Given the description of an element on the screen output the (x, y) to click on. 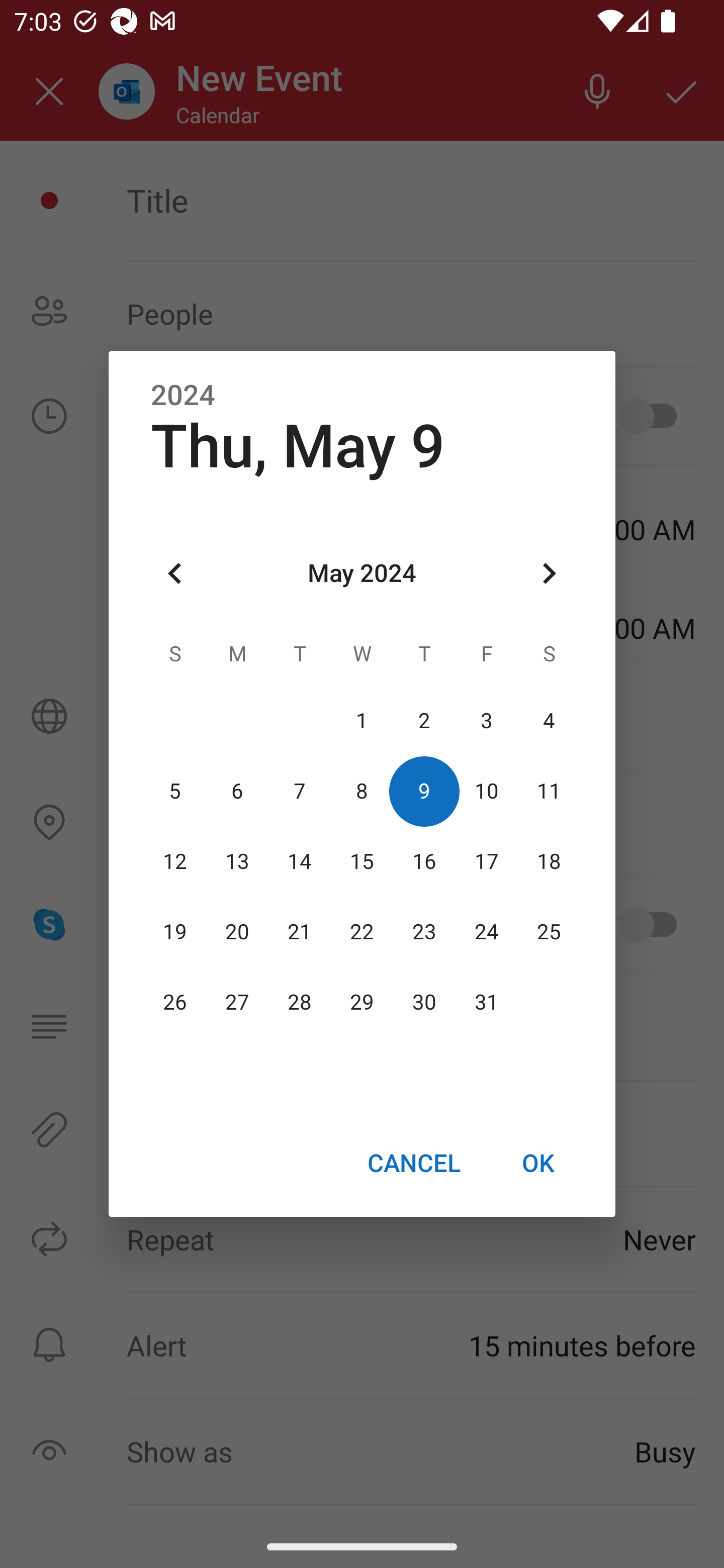
2024 (182, 395)
Thu, May 9 (297, 446)
Previous month (174, 573)
Next month (548, 573)
1 01 May 2024 (361, 720)
2 02 May 2024 (424, 720)
3 03 May 2024 (486, 720)
4 04 May 2024 (548, 720)
5 05 May 2024 (175, 790)
6 06 May 2024 (237, 790)
7 07 May 2024 (299, 790)
8 08 May 2024 (361, 790)
9 09 May 2024 (424, 790)
10 10 May 2024 (486, 790)
11 11 May 2024 (548, 790)
12 12 May 2024 (175, 861)
13 13 May 2024 (237, 861)
14 14 May 2024 (299, 861)
15 15 May 2024 (361, 861)
16 16 May 2024 (424, 861)
17 17 May 2024 (486, 861)
18 18 May 2024 (548, 861)
19 19 May 2024 (175, 931)
20 20 May 2024 (237, 931)
21 21 May 2024 (299, 931)
22 22 May 2024 (361, 931)
23 23 May 2024 (424, 931)
24 24 May 2024 (486, 931)
25 25 May 2024 (548, 931)
26 26 May 2024 (175, 1002)
27 27 May 2024 (237, 1002)
28 28 May 2024 (299, 1002)
29 29 May 2024 (361, 1002)
30 30 May 2024 (424, 1002)
31 31 May 2024 (486, 1002)
CANCEL (413, 1162)
OK (537, 1162)
